Given the description of an element on the screen output the (x, y) to click on. 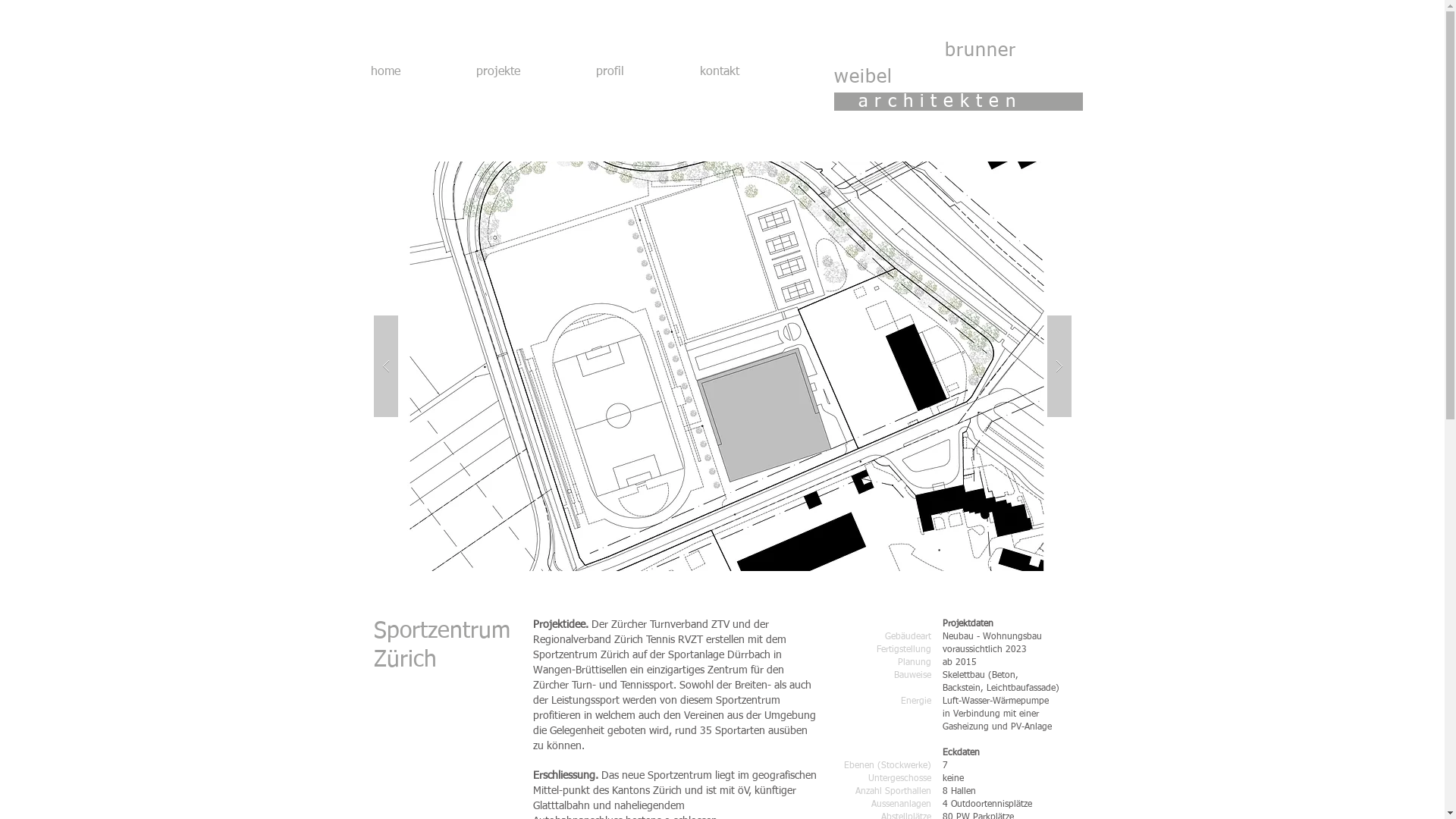
projekte Element type: text (523, 70)
home Element type: text (411, 70)
  Element type: text (895, 77)
brunner weibel Element type: text (925, 64)
kontakt Element type: text (745, 70)
                     Element type: text (889, 51)
profil Element type: text (635, 70)
